Given the description of an element on the screen output the (x, y) to click on. 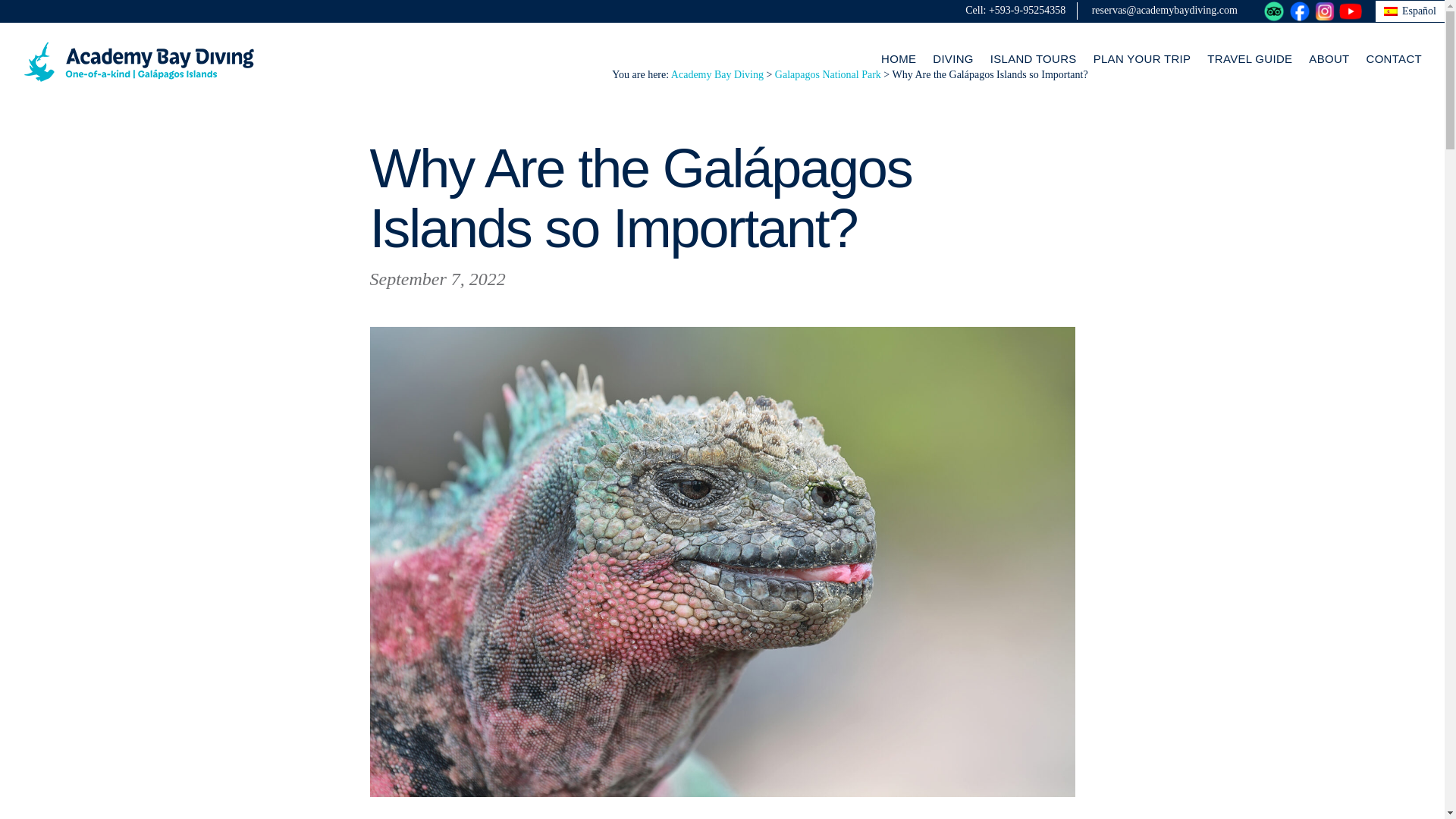
Go to the Galapagos National Park Category archives. (827, 74)
Academy Bay Diving (716, 74)
Go to Academy Bay Diving. (716, 74)
Galapagos National Park (827, 74)
DIVING (952, 59)
Academy Bay Diving (139, 61)
ISLAND TOURS (1033, 59)
HOME (897, 59)
